Given the description of an element on the screen output the (x, y) to click on. 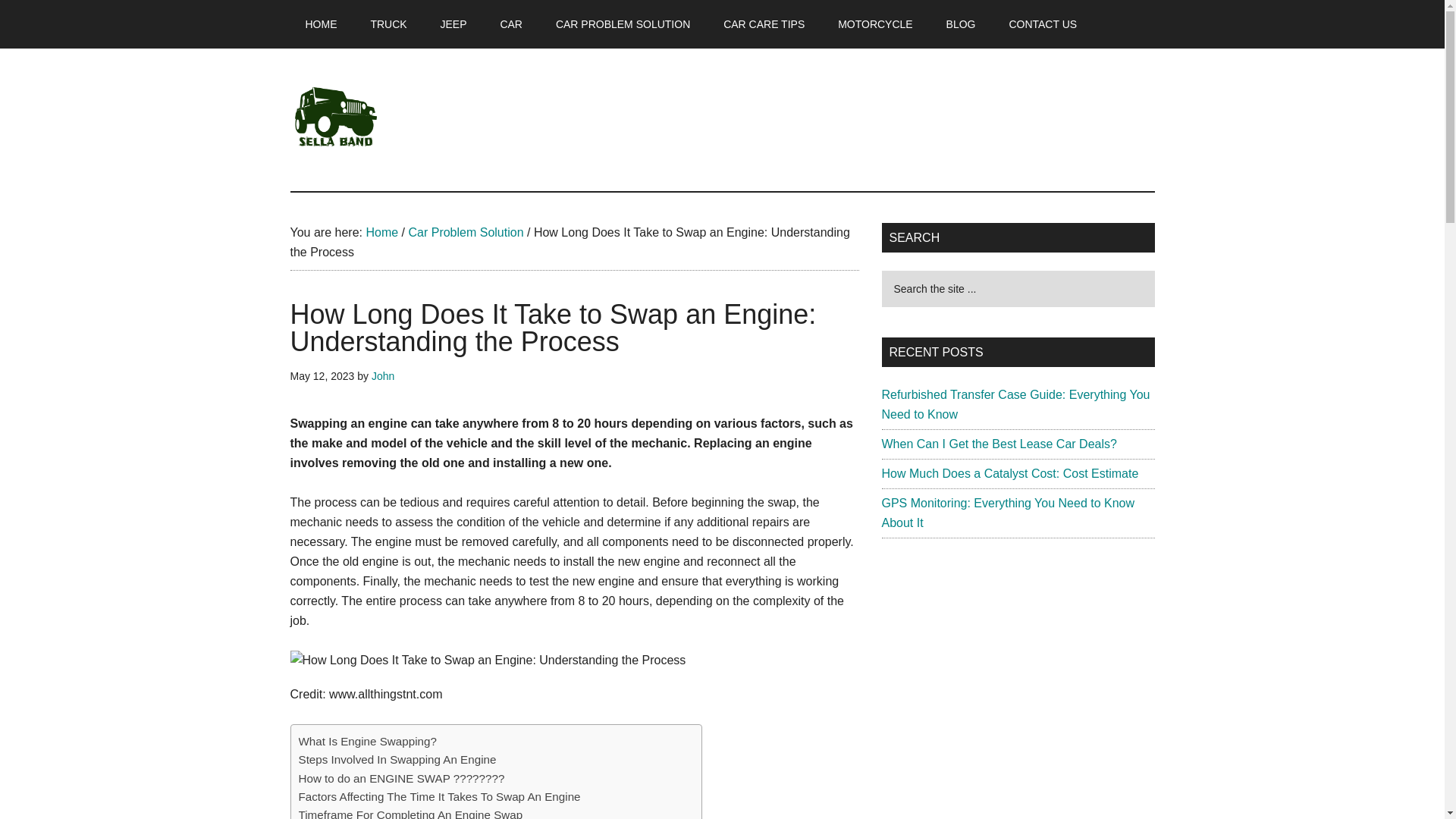
Truck (388, 24)
Home (381, 232)
What Is Engine Swapping? (367, 741)
HOME (320, 24)
When Can I Get the Best Lease Car Deals? (998, 443)
Timeframe For Completing An Engine Swap (410, 812)
How to do an ENGINE SWAP ???????? (401, 778)
Factors Affecting The Time It Takes To Swap An Engine (439, 796)
How to do an ENGINE SWAP ???????? (401, 778)
Car Problem Solution (464, 232)
How Much Does a Catalyst Cost: Cost Estimate (1009, 472)
John (382, 376)
Jeep (453, 24)
CAR (510, 24)
CAR CARE TIPS (763, 24)
